Given the description of an element on the screen output the (x, y) to click on. 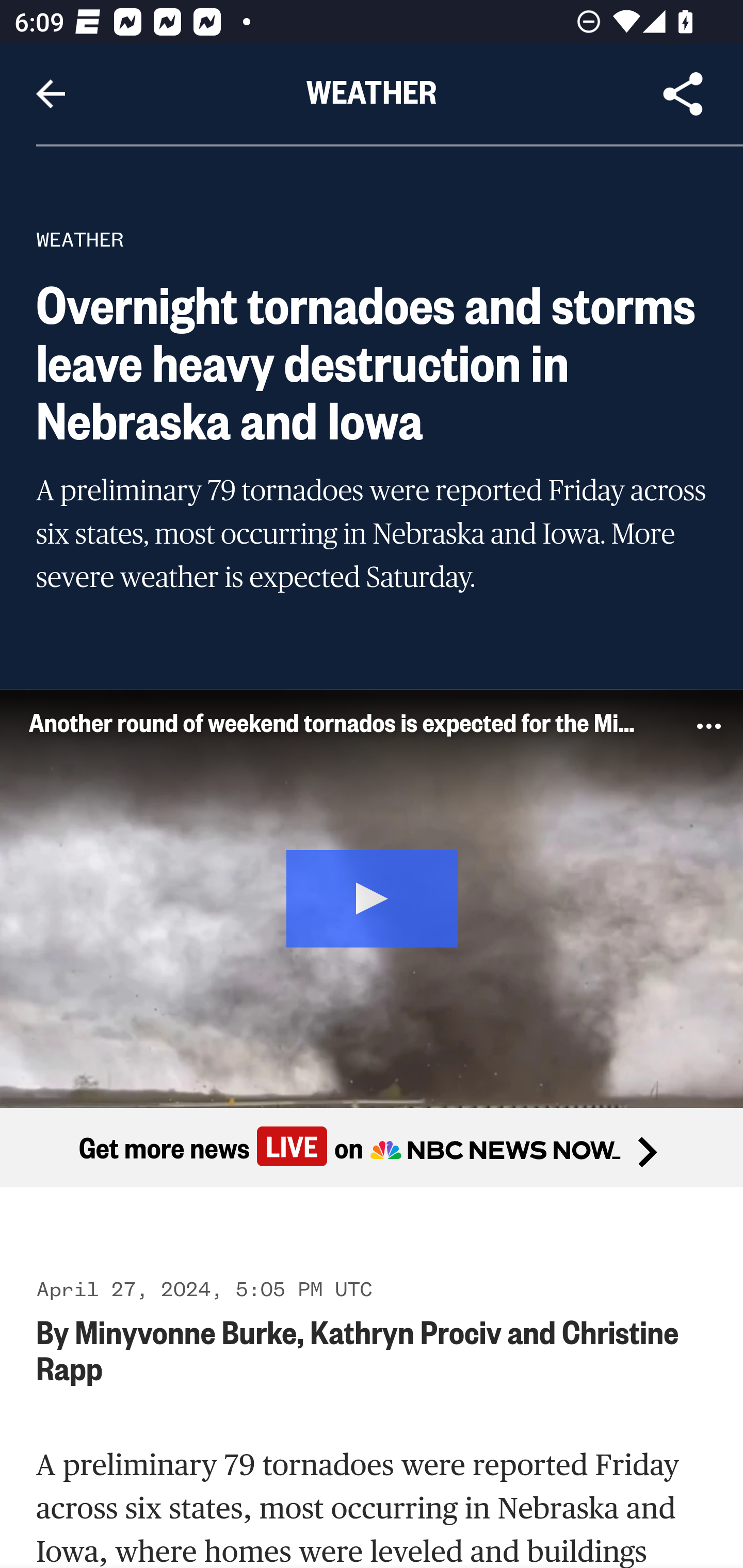
Navigate up (50, 93)
Share Article, button (683, 94)
